Given the description of an element on the screen output the (x, y) to click on. 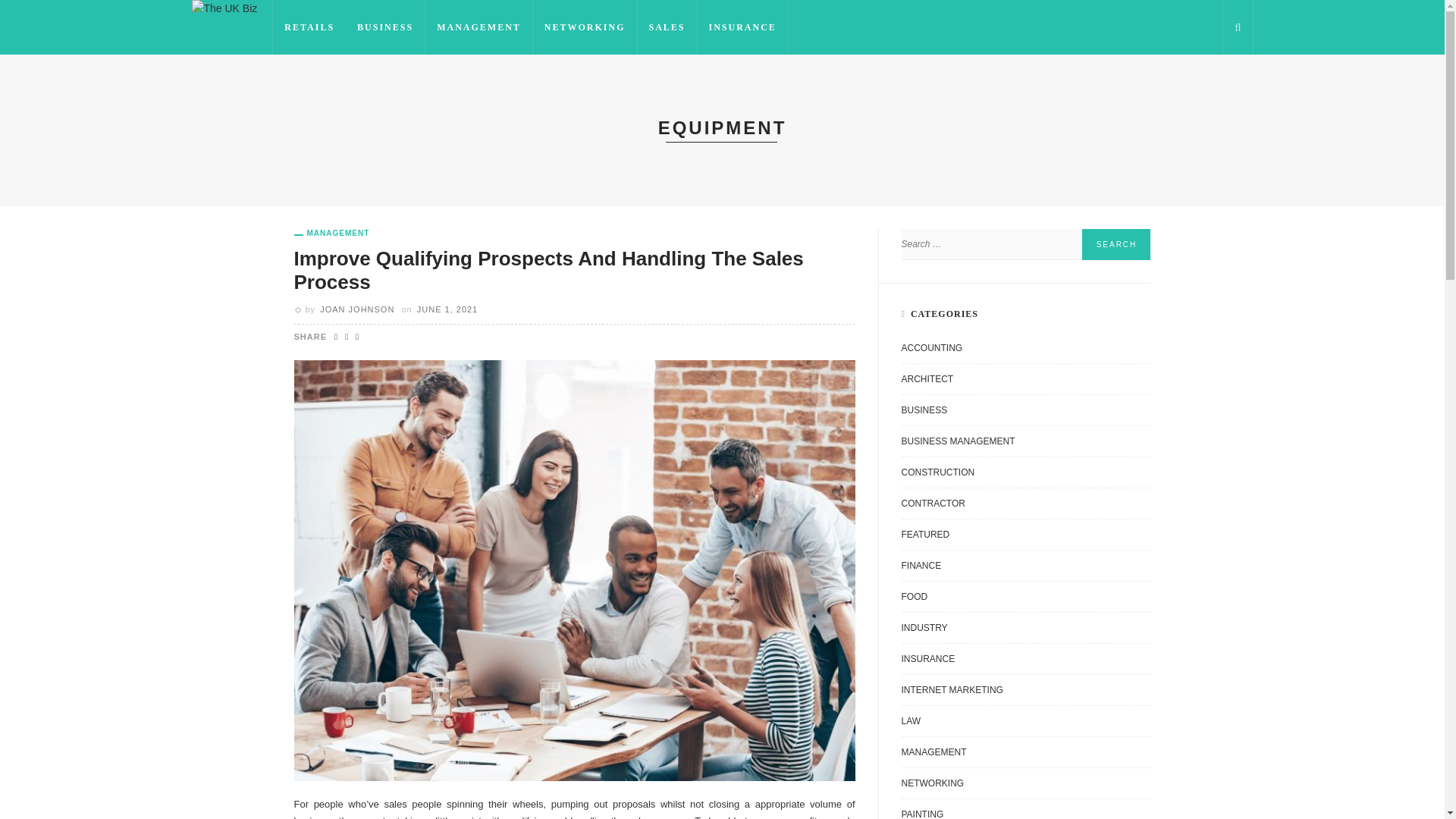
Management (331, 233)
Search (1115, 244)
Improve Qualifying Prospects and Handling the Sales Process (548, 270)
The UK Biz (223, 8)
Search (1115, 244)
Improve Qualifying Prospects and Handling the Sales Process (575, 569)
